Given the description of an element on the screen output the (x, y) to click on. 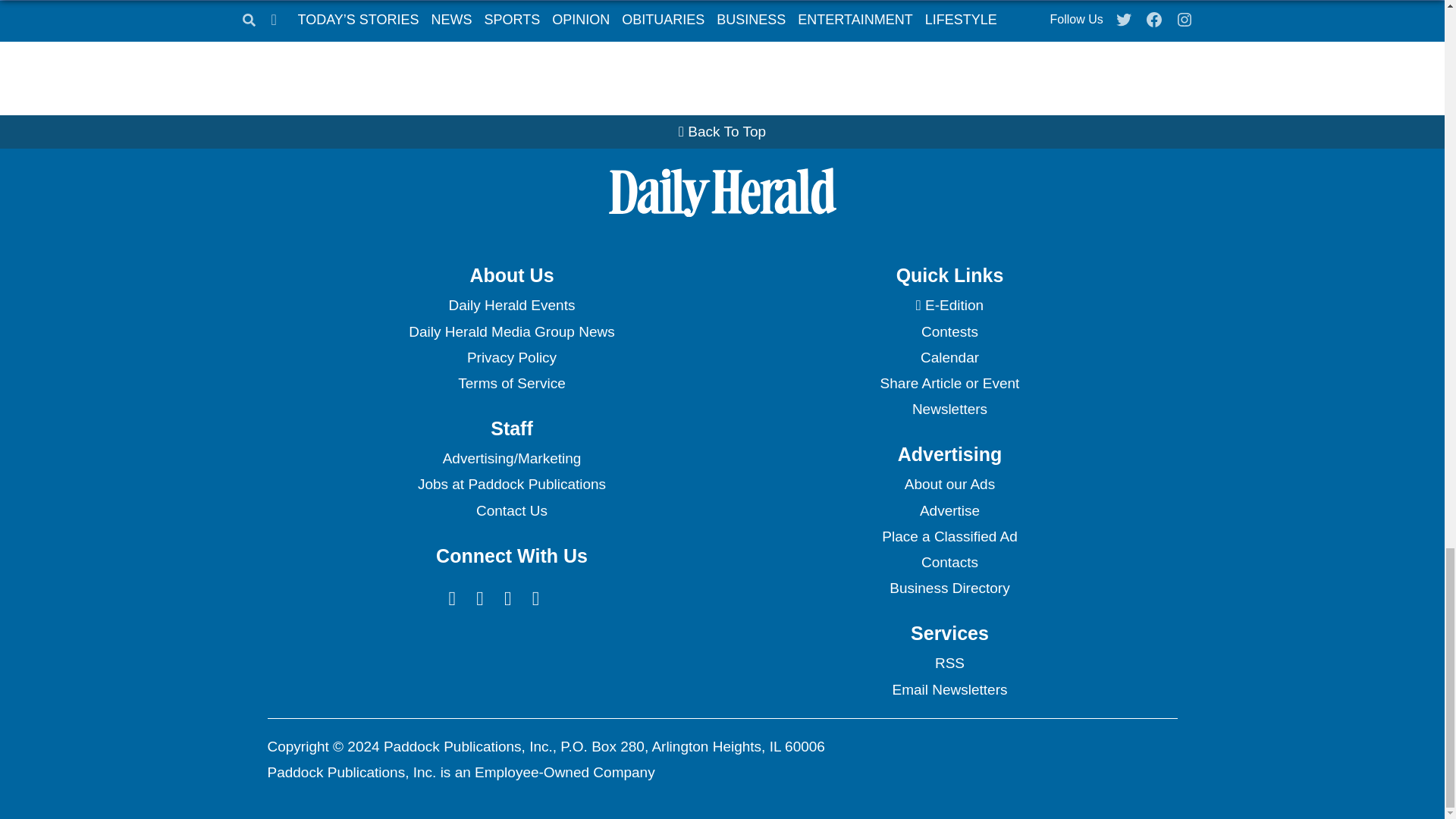
Daily Herald Media Group News (511, 331)
Daily Herald Events (511, 305)
Privacy Policy (511, 357)
Contact Us (511, 510)
Daily Herald Digital Newspaper (949, 305)
Terms of Service (511, 383)
Jobs at Paddock Publications (511, 484)
